Given the description of an element on the screen output the (x, y) to click on. 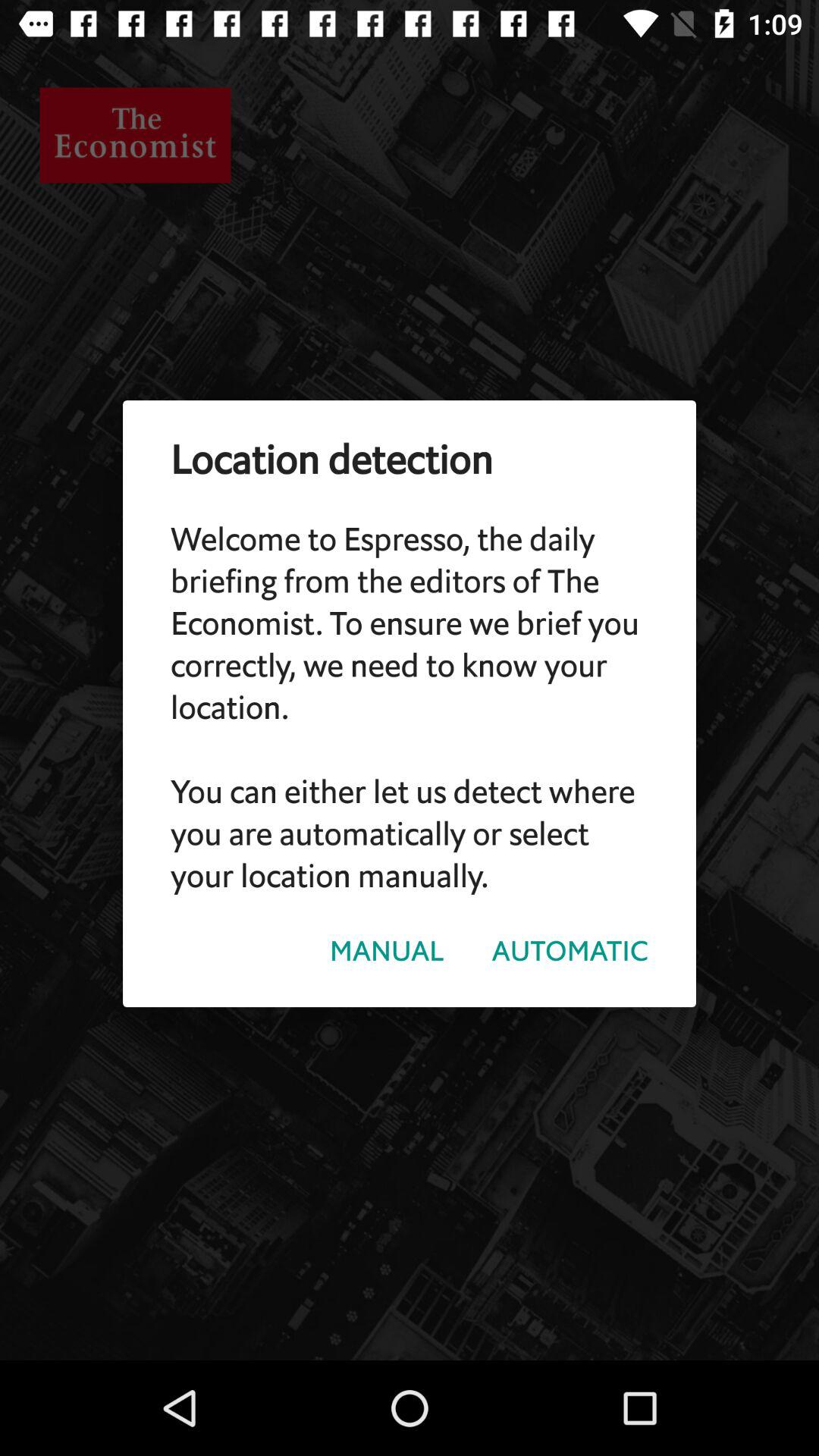
select the manual (386, 951)
